Given the description of an element on the screen output the (x, y) to click on. 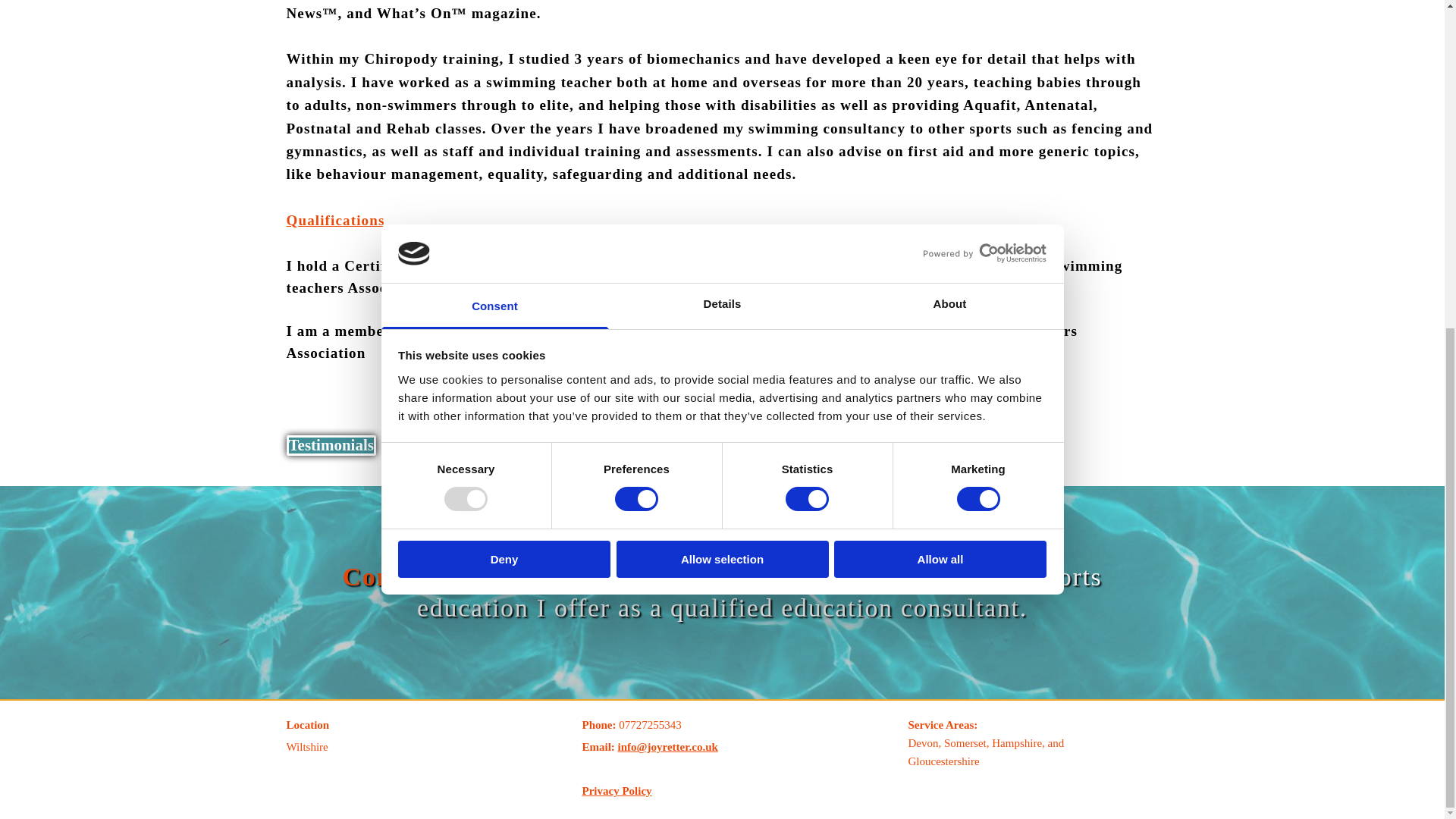
Allow selection (721, 18)
Allow all (940, 18)
Deny (503, 18)
